Given the description of an element on the screen output the (x, y) to click on. 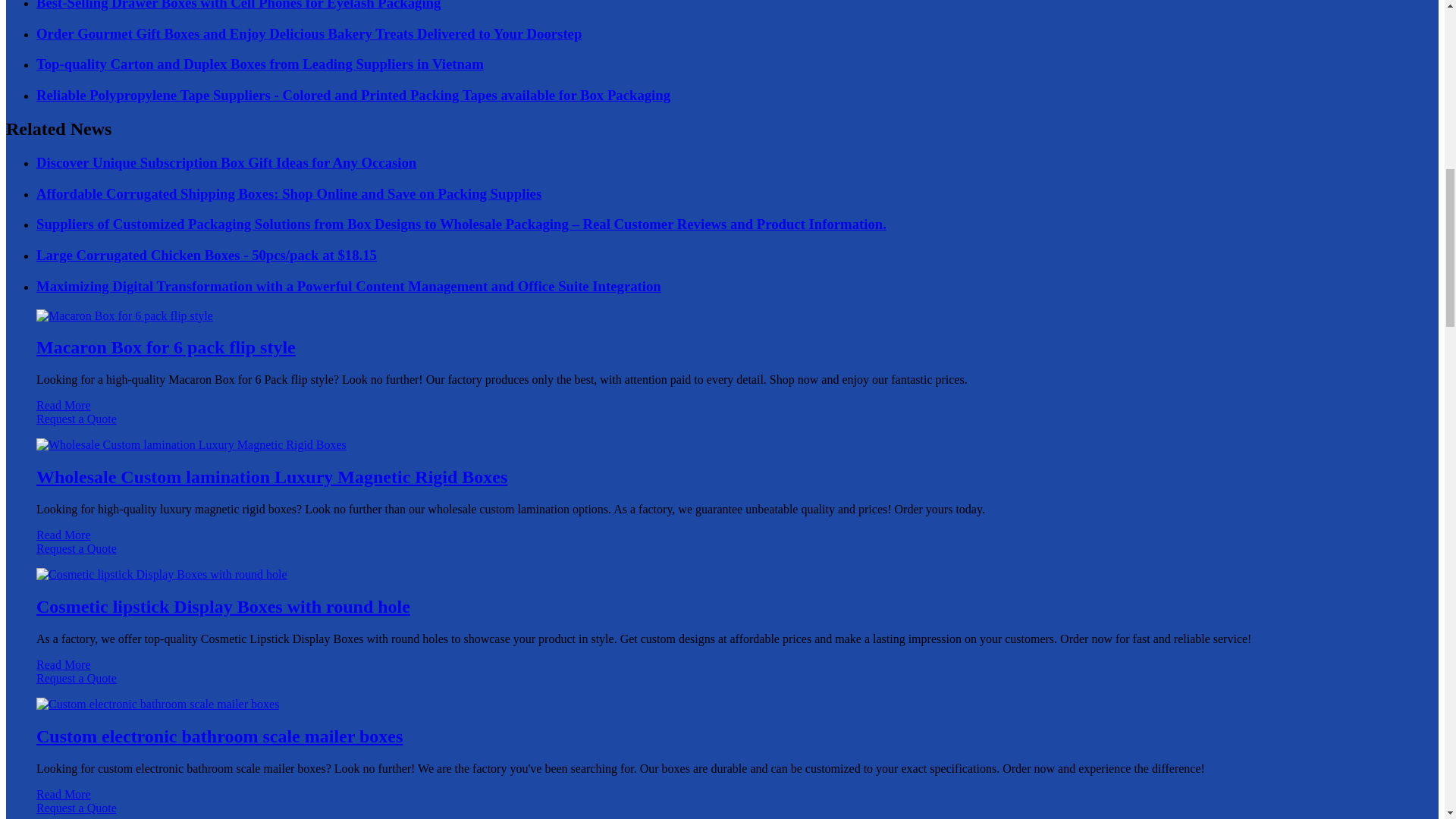
Read More (63, 404)
Request a Quote (721, 425)
Macaron Box for 6 pack flip style (165, 347)
